Given the description of an element on the screen output the (x, y) to click on. 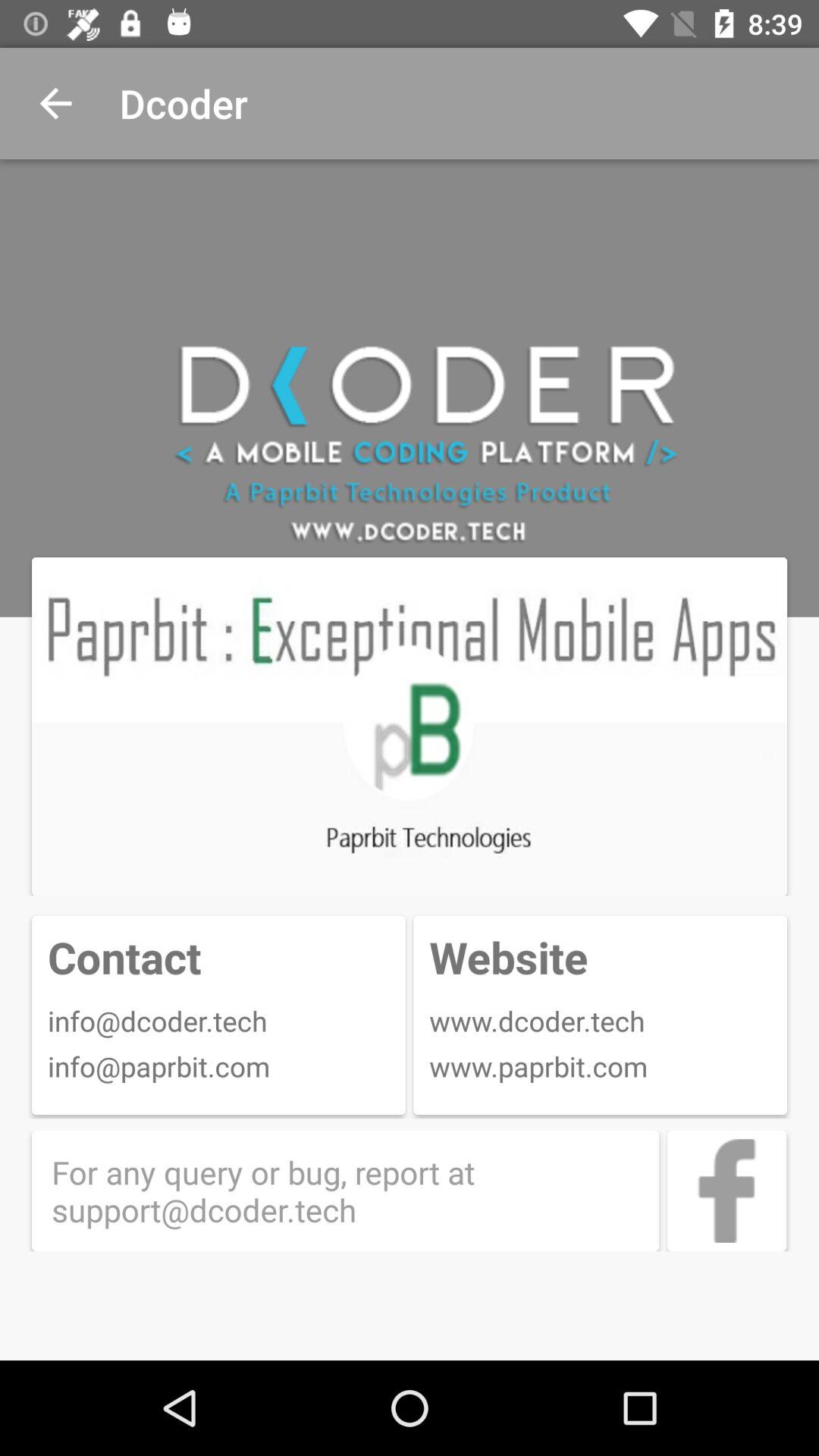
turn off icon at the bottom right corner (726, 1190)
